Given the description of an element on the screen output the (x, y) to click on. 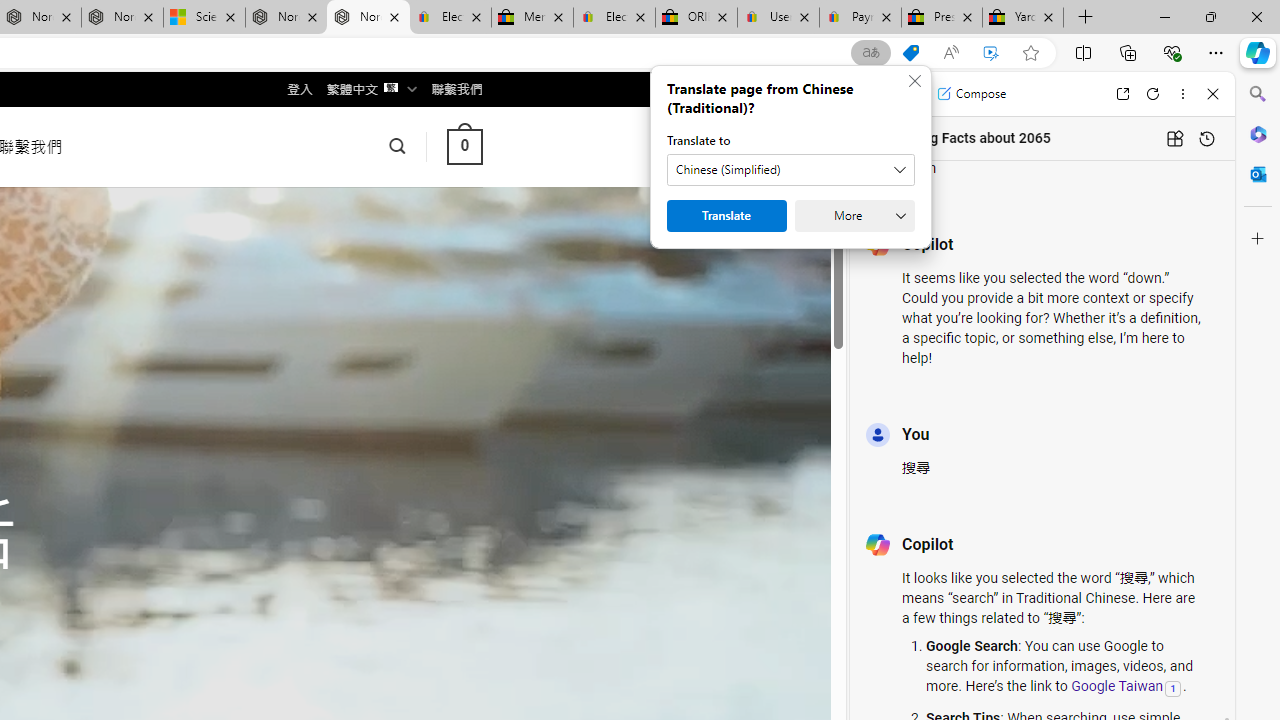
Open link in new tab (1122, 93)
 0  (464, 146)
Show translate options (870, 53)
Translate to (790, 169)
More (854, 215)
Chat (884, 93)
Yard, Garden & Outdoor Living (1023, 17)
